Given the description of an element on the screen output the (x, y) to click on. 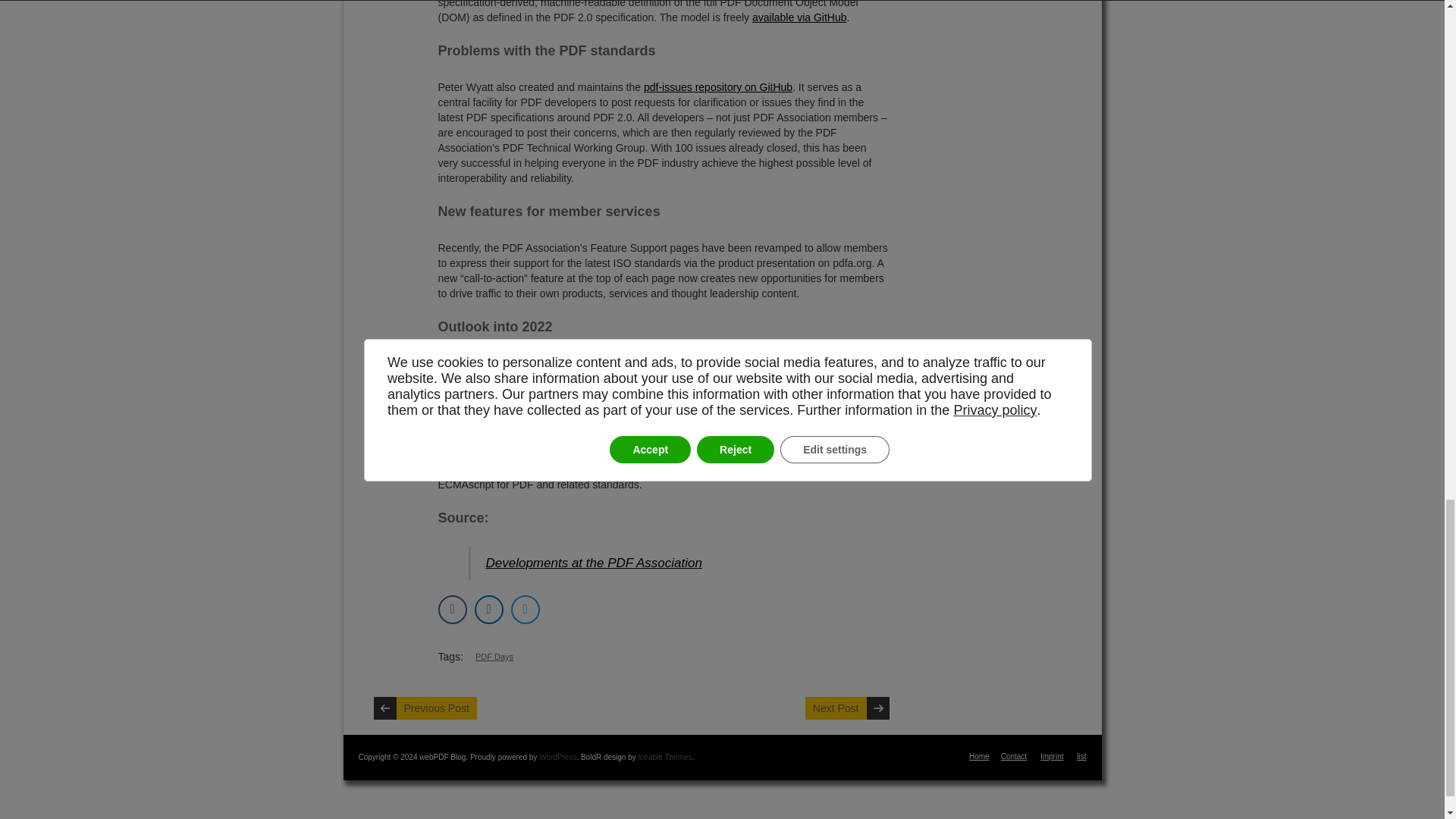
pdf-issues repository on GitHub (717, 87)
Semantic Personal Publishing Platform (557, 756)
Developments at the PDF Association (592, 563)
Free and Premium WordPress Themes (666, 756)
available via GitHub (799, 17)
